Given the description of an element on the screen output the (x, y) to click on. 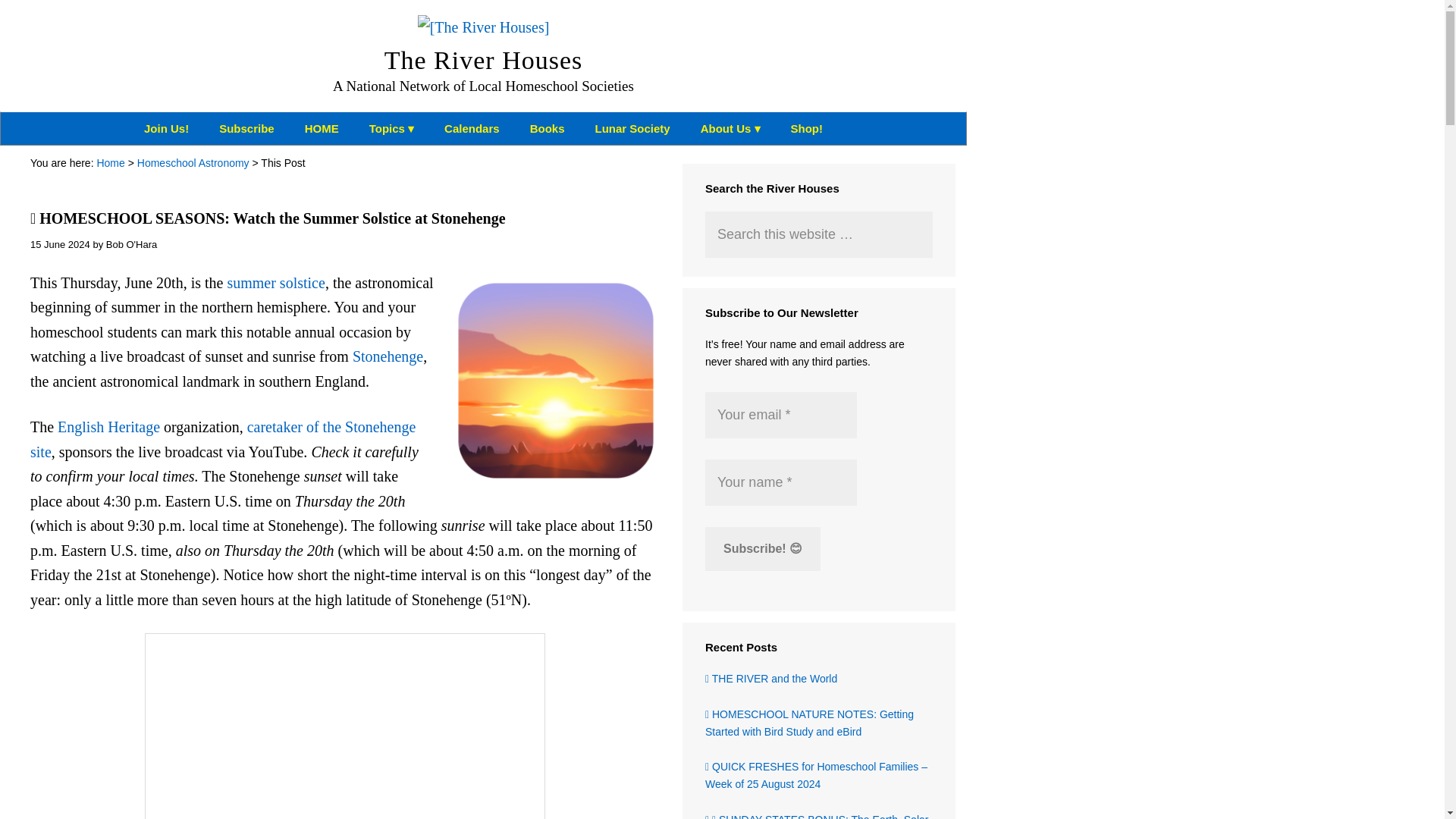
The River Houses (483, 59)
Go to our home page. (321, 128)
caretaker of the Stonehenge site (222, 439)
Become a member of the River Houses today! (166, 128)
Homeschool Astronomy (192, 162)
summer solstice (275, 282)
Lunar Society (631, 128)
Browse our homeschool lessons by topic. (391, 128)
